Given the description of an element on the screen output the (x, y) to click on. 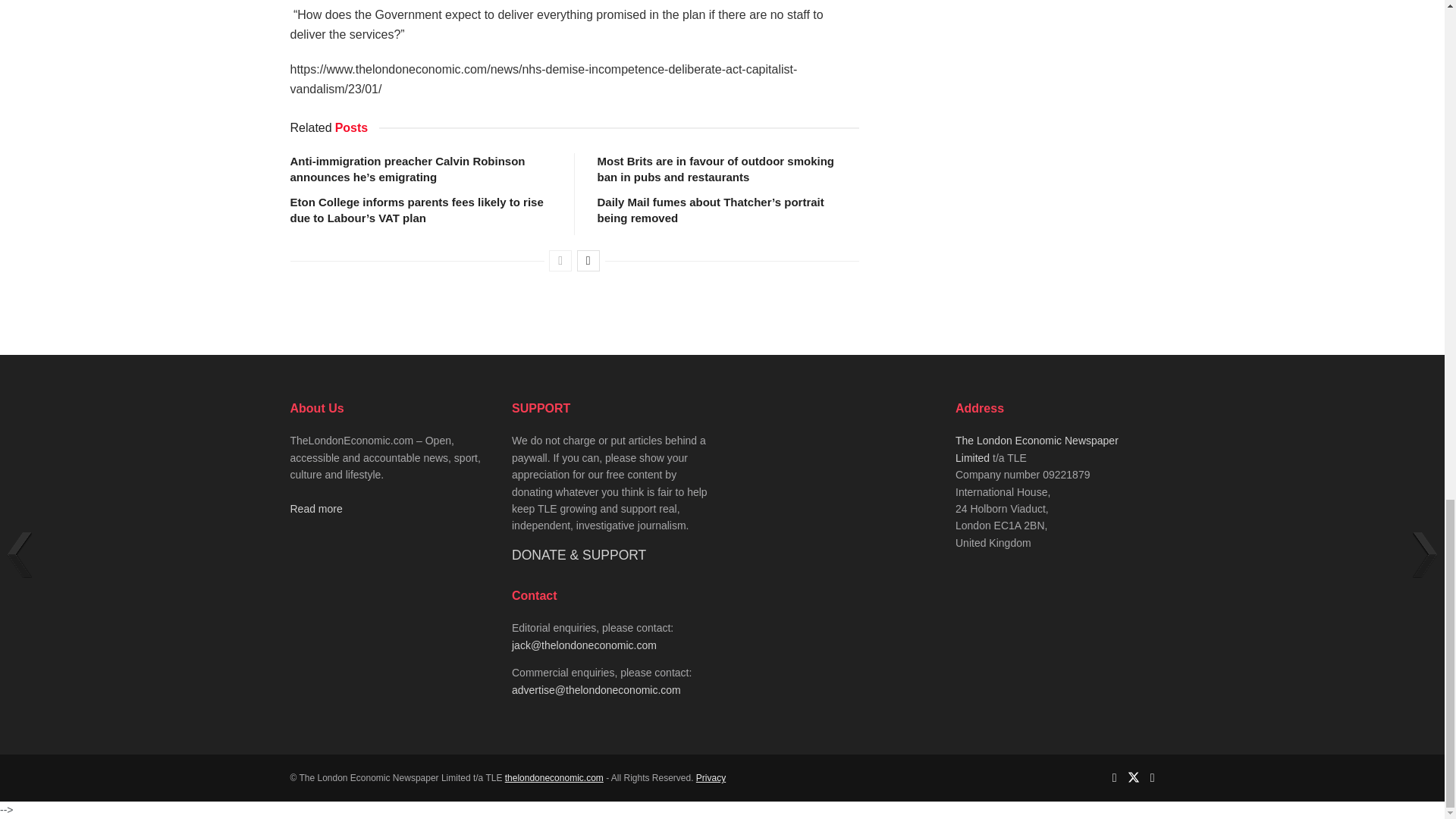
The London Economic (554, 777)
Next (587, 260)
Privacy (710, 777)
Previous (560, 260)
